Given the description of an element on the screen output the (x, y) to click on. 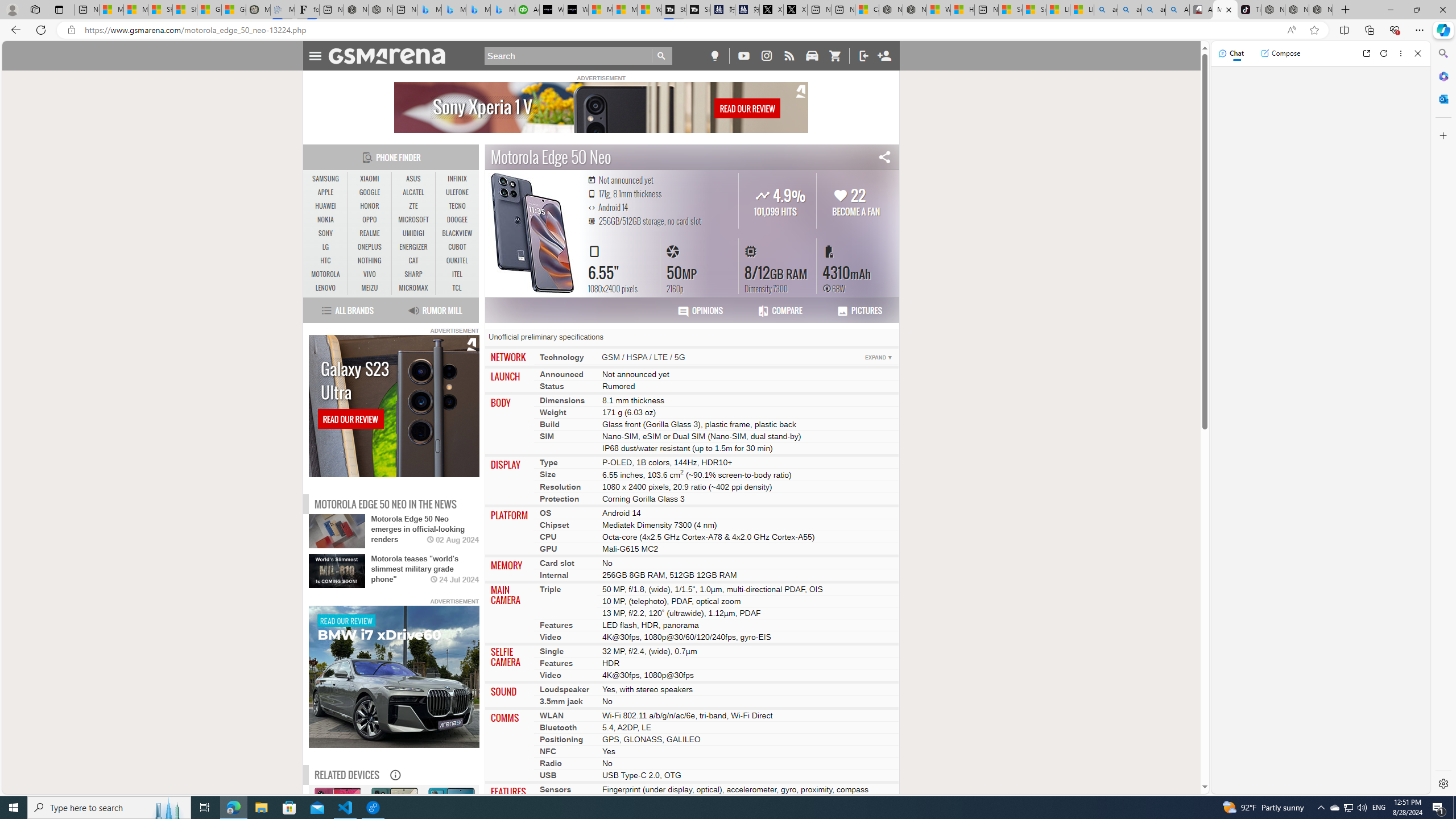
X (795, 9)
GOOGLE (369, 192)
MICROMAX (413, 287)
Protection (559, 498)
ALCATEL (413, 192)
Positioning (561, 738)
WLAN (551, 714)
SIM (546, 435)
Status (552, 385)
SAMSUNG (325, 178)
APPLE (325, 192)
Streaming Coverage | T3 (673, 9)
Single (552, 651)
NOTHING (369, 260)
